Given the description of an element on the screen output the (x, y) to click on. 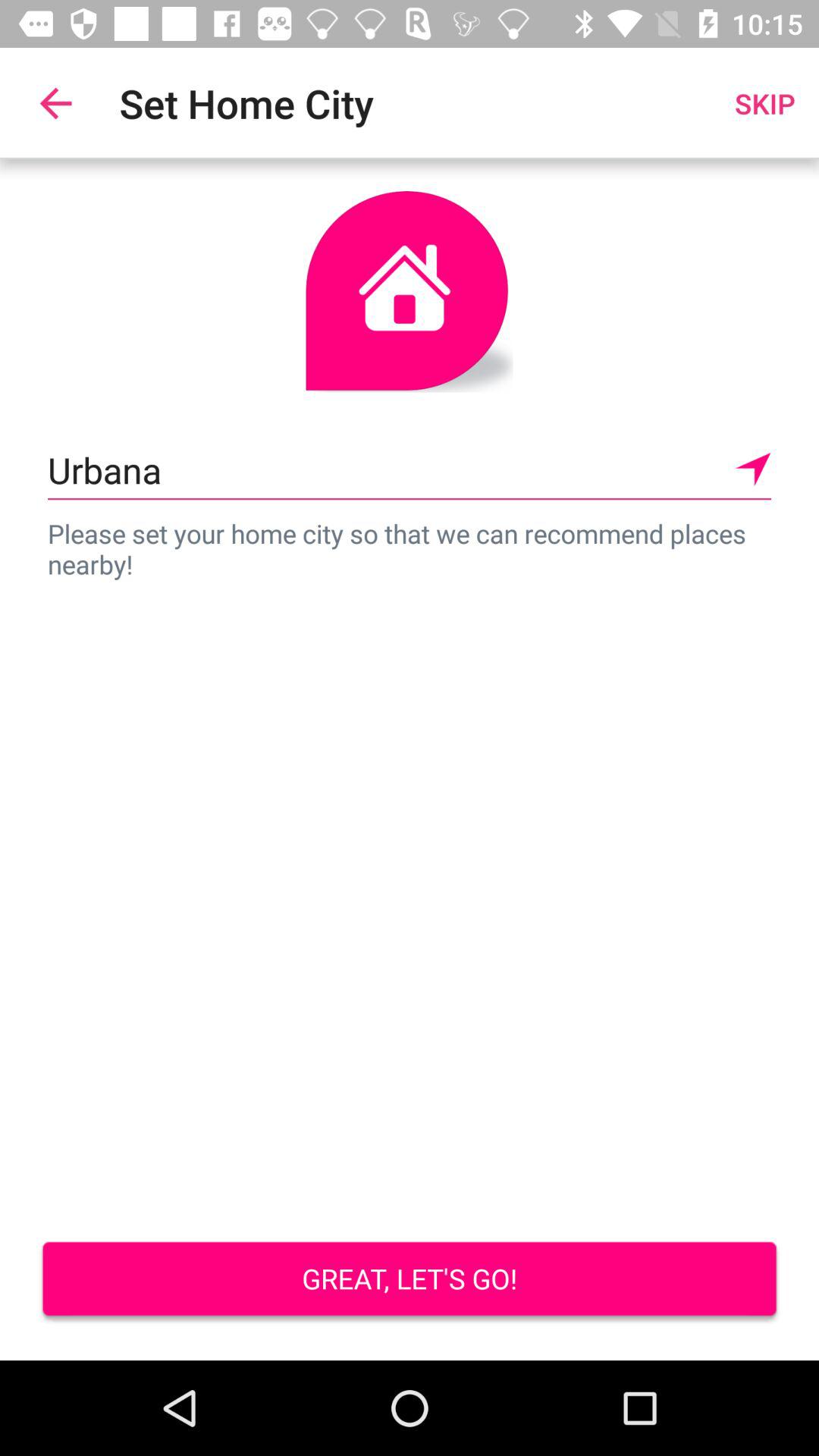
turn off skip icon (764, 103)
